Given the description of an element on the screen output the (x, y) to click on. 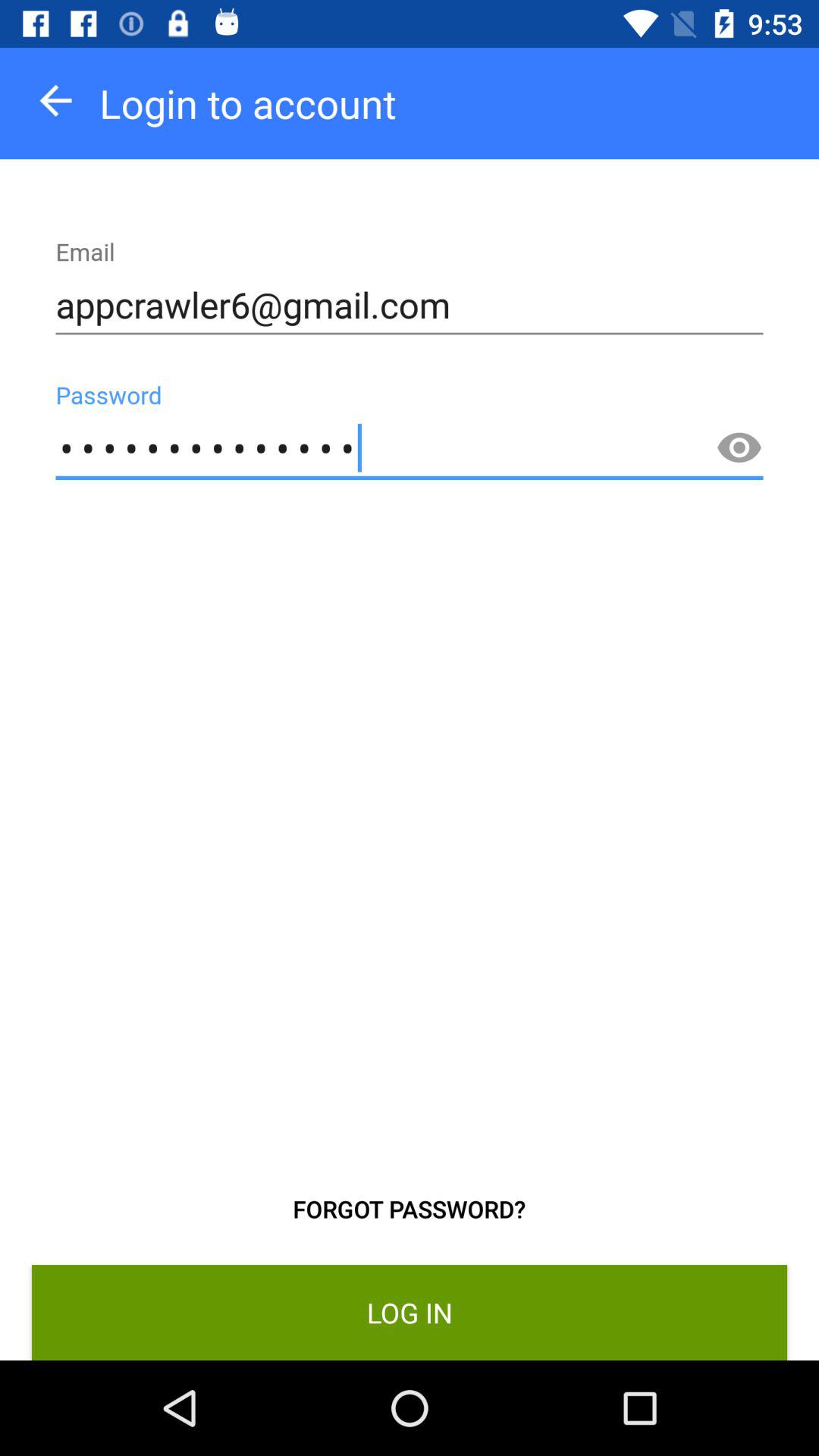
select icon below the appcrawler6@gmail.com item (739, 448)
